Given the description of an element on the screen output the (x, y) to click on. 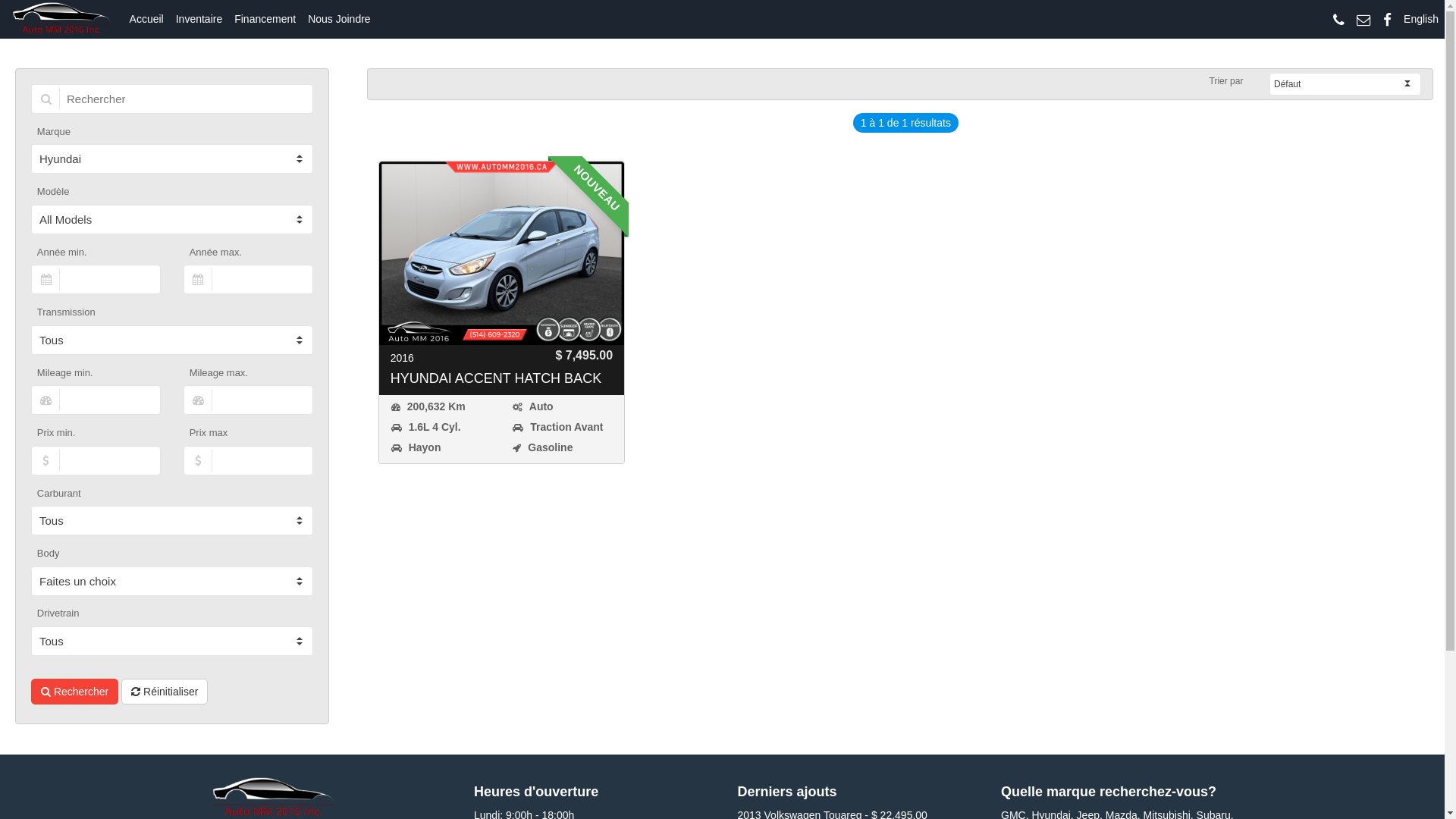
Inventaire Element type: text (198, 18)
Financement Element type: text (264, 18)
Find us on Facebook! Element type: hover (1387, 20)
Nous Joindre Element type: text (338, 18)
Accueil Element type: text (146, 18)
Give us a call! Element type: hover (1338, 20)
Send us an email! Element type: hover (1363, 20)
English Element type: text (1420, 18)
